Given the description of an element on the screen output the (x, y) to click on. 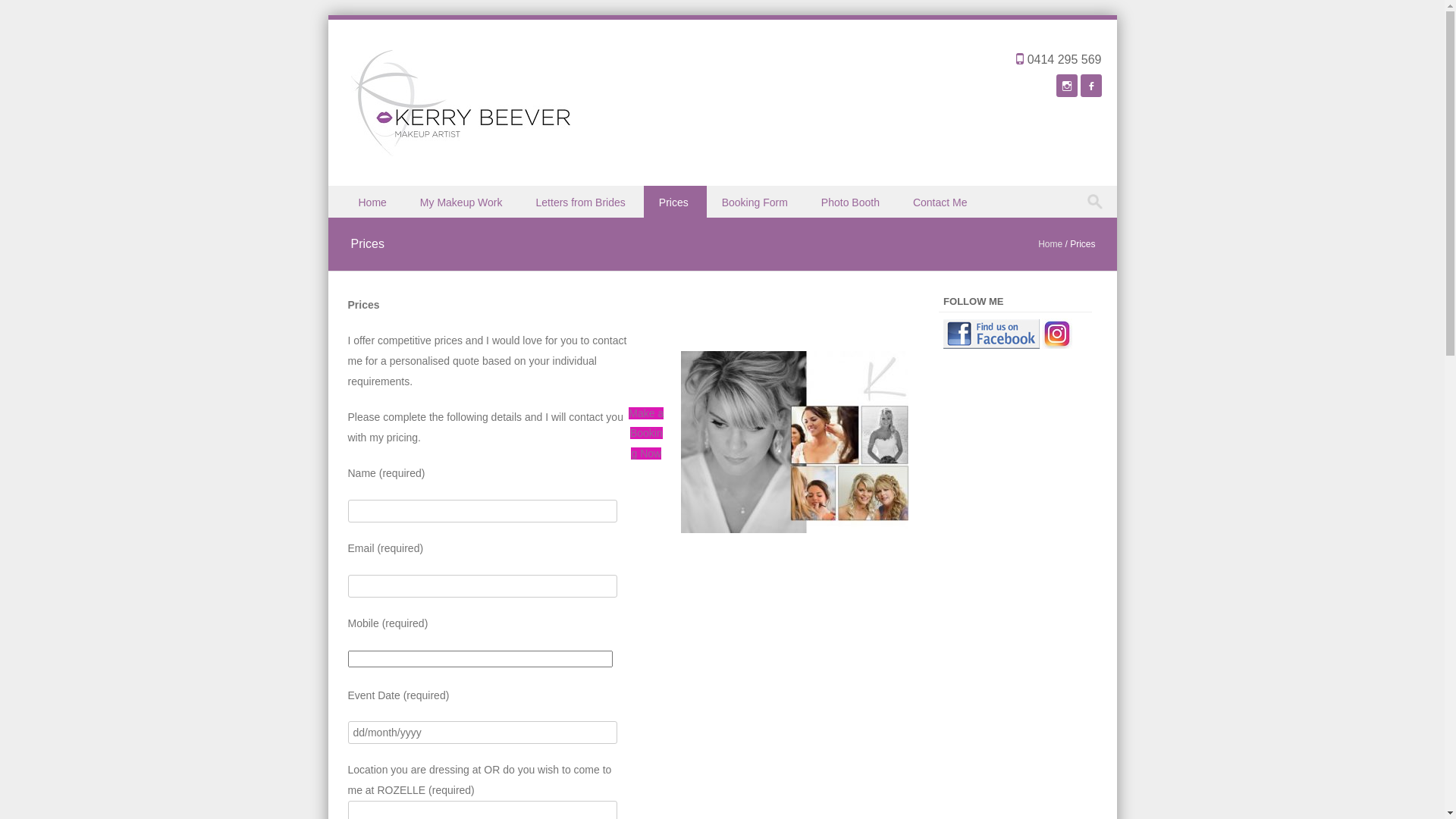
Search Element type: text (26, 14)
Kerry Beever Element type: hover (459, 152)
Letters from Brides Element type: text (581, 201)
Contact Me Element type: text (941, 201)
My Makeup Work Element type: text (462, 201)
Search for: Element type: hover (1096, 201)
Make a Booking Now Element type: text (645, 433)
Home Element type: text (373, 201)
Home Element type: text (1050, 243)
Photo Booth Element type: text (851, 201)
Skip to content Element type: text (362, 195)
Prices Element type: text (674, 201)
Booking Form Element type: text (756, 201)
